Given the description of an element on the screen output the (x, y) to click on. 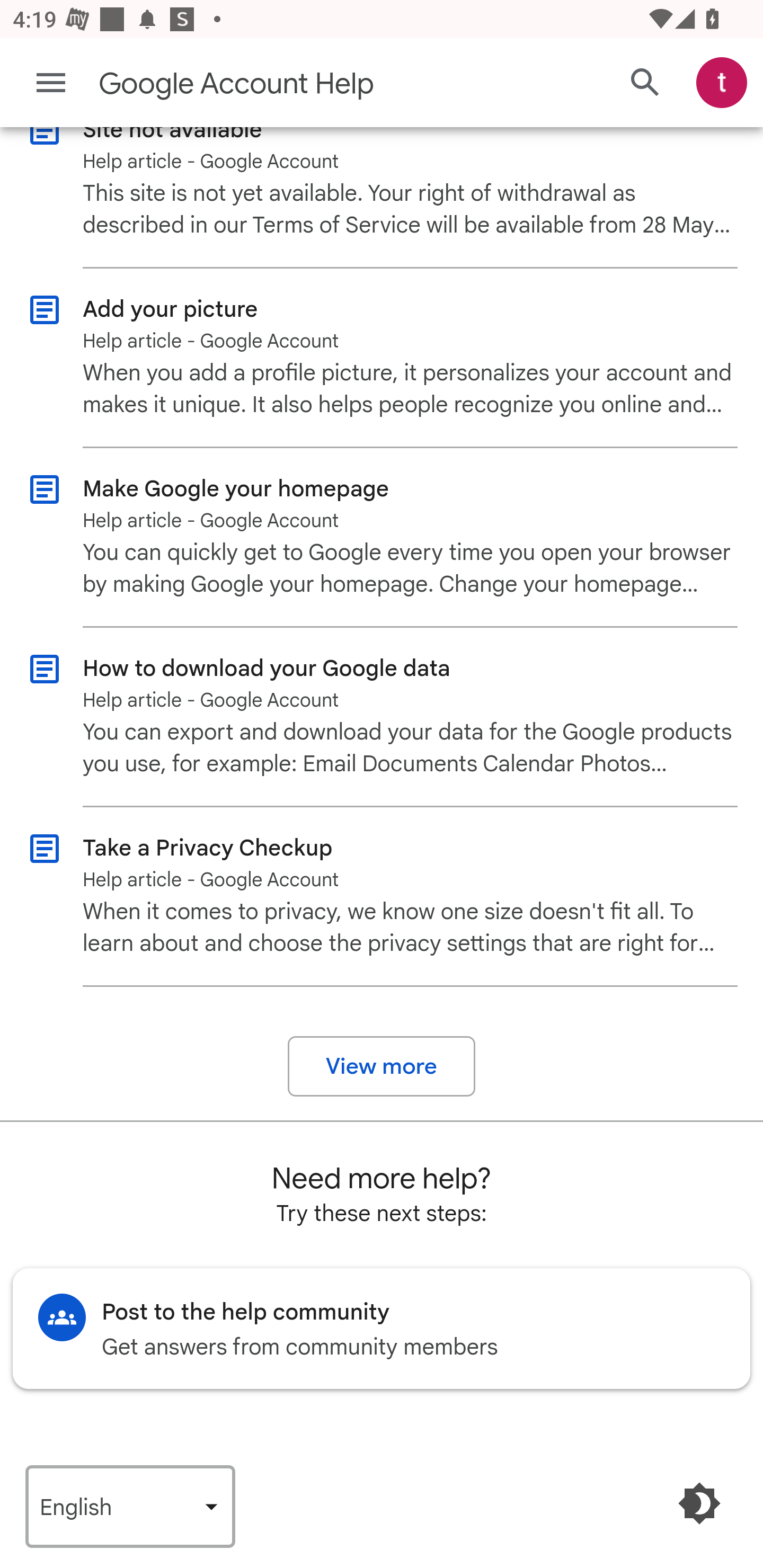
Main menu (50, 81)
Google Account Help (311, 83)
Search Help Center (645, 82)
View more (381, 1066)
Language (English‎) (130, 1505)
Enable Dark Mode (699, 1502)
